Given the description of an element on the screen output the (x, y) to click on. 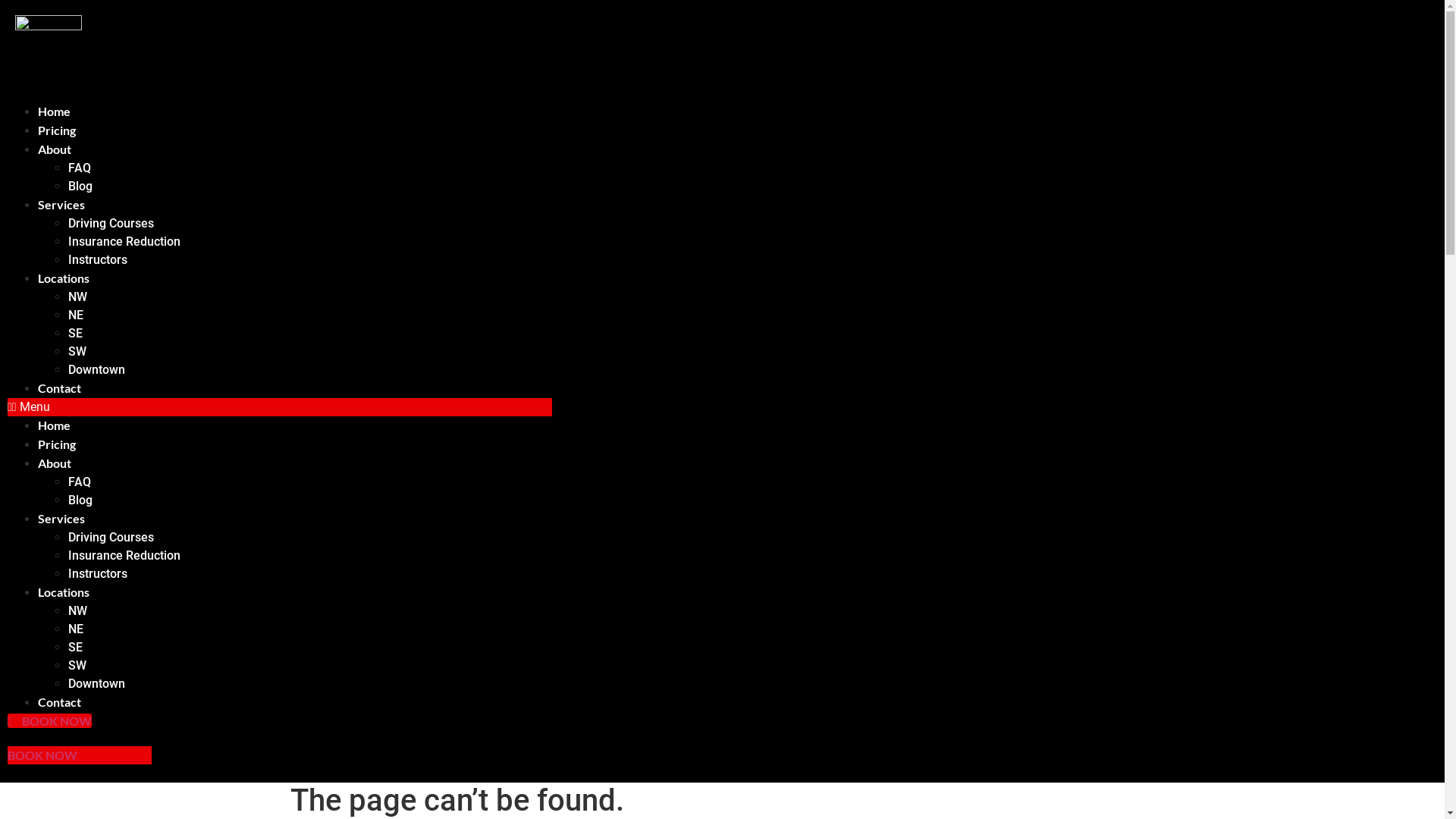
Blog Element type: text (80, 185)
SE Element type: text (75, 647)
Instructors Element type: text (97, 259)
FAQ Element type: text (79, 167)
Downtown Element type: text (96, 683)
Home Element type: text (53, 424)
About Element type: text (54, 462)
NE Element type: text (75, 628)
Services Element type: text (60, 204)
Blog Element type: text (80, 499)
Instructors Element type: text (97, 573)
About Element type: text (54, 148)
NE Element type: text (75, 314)
Pricing Element type: text (56, 129)
Contact Element type: text (59, 701)
NW Element type: text (77, 610)
NW Element type: text (77, 296)
Pricing Element type: text (56, 443)
FAQ Element type: text (79, 481)
BOOK NOW Element type: text (42, 754)
Services Element type: text (60, 518)
Locations Element type: text (63, 591)
Driving Courses Element type: text (110, 537)
Driving Courses Element type: text (110, 223)
Contact Element type: text (59, 387)
SW Element type: text (77, 351)
SE Element type: text (75, 333)
Insurance Reduction Element type: text (124, 555)
Insurance Reduction Element type: text (124, 241)
BOOK NOW Element type: text (49, 720)
SW Element type: text (77, 665)
Downtown Element type: text (96, 369)
Home Element type: text (53, 110)
Locations Element type: text (63, 277)
